Given the description of an element on the screen output the (x, y) to click on. 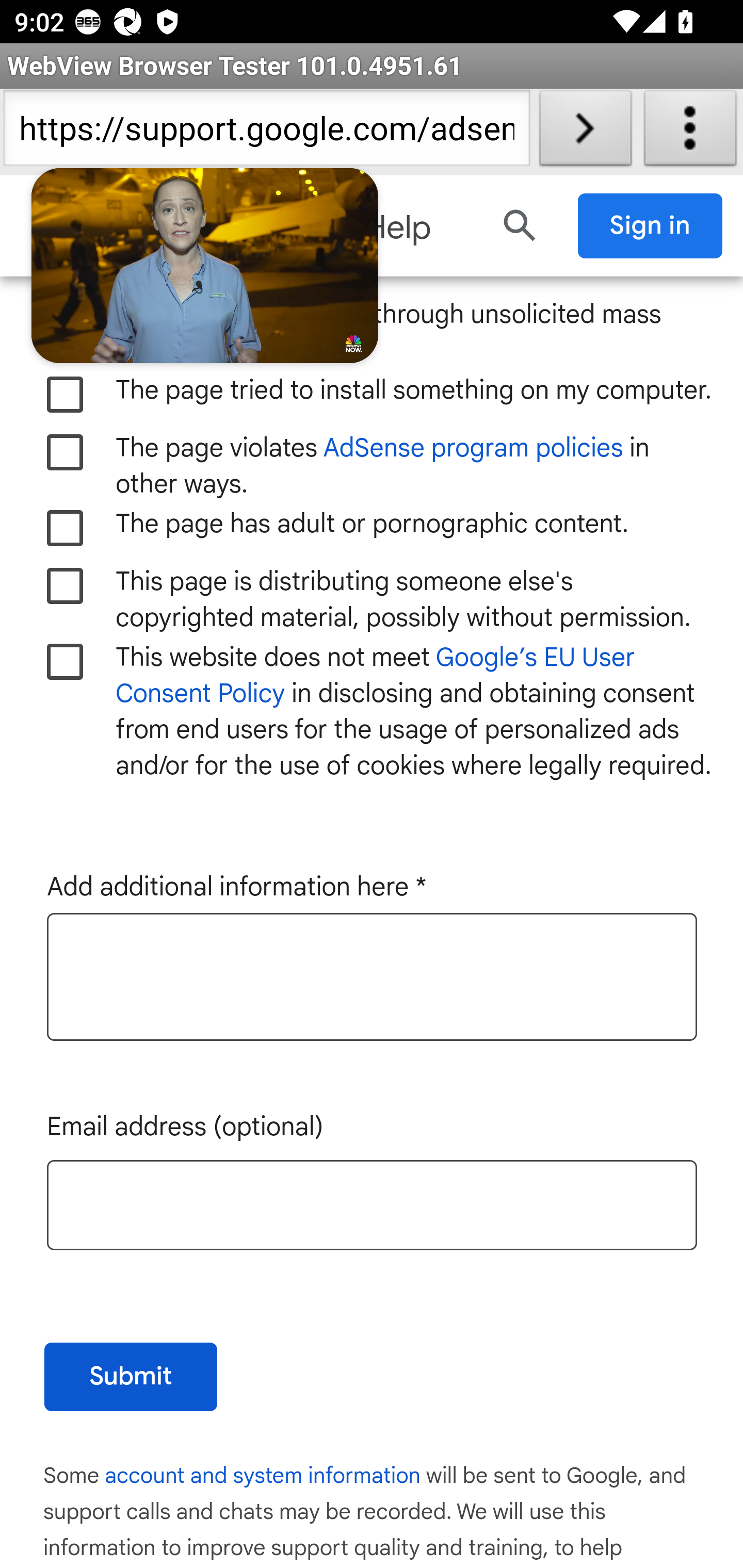
Load URL (585, 132)
About WebView (690, 132)
Search Help Center (519, 226)
Sign in (650, 226)
The page has adult or pornographic content. (65, 529)
Submit (130, 1378)
account and system information (263, 1476)
